Given the description of an element on the screen output the (x, y) to click on. 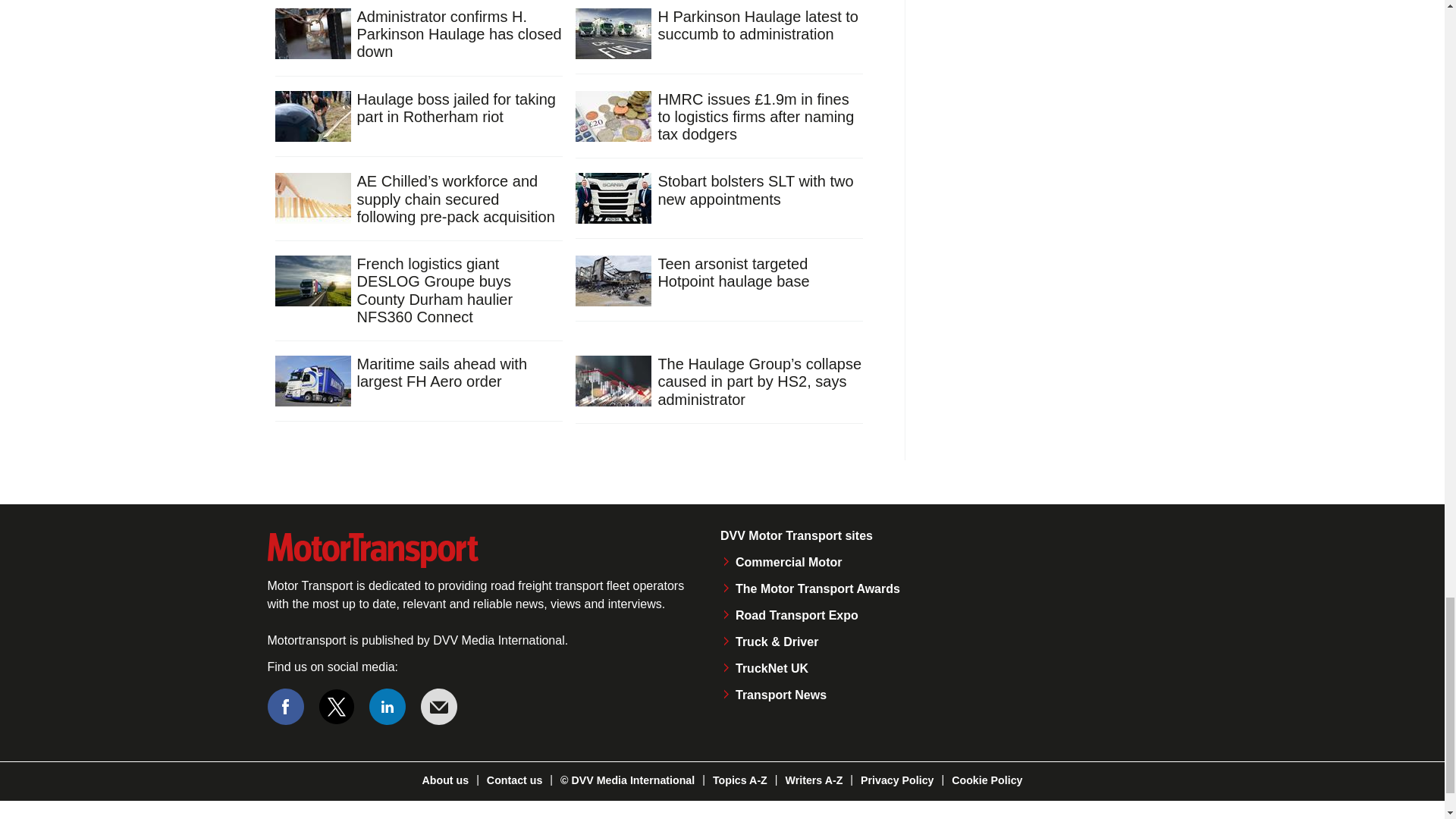
Connect with us on Twitter (336, 706)
Connect with us on Linked in (387, 706)
Connect with us on Facebook (284, 706)
Email us (438, 706)
